Given the description of an element on the screen output the (x, y) to click on. 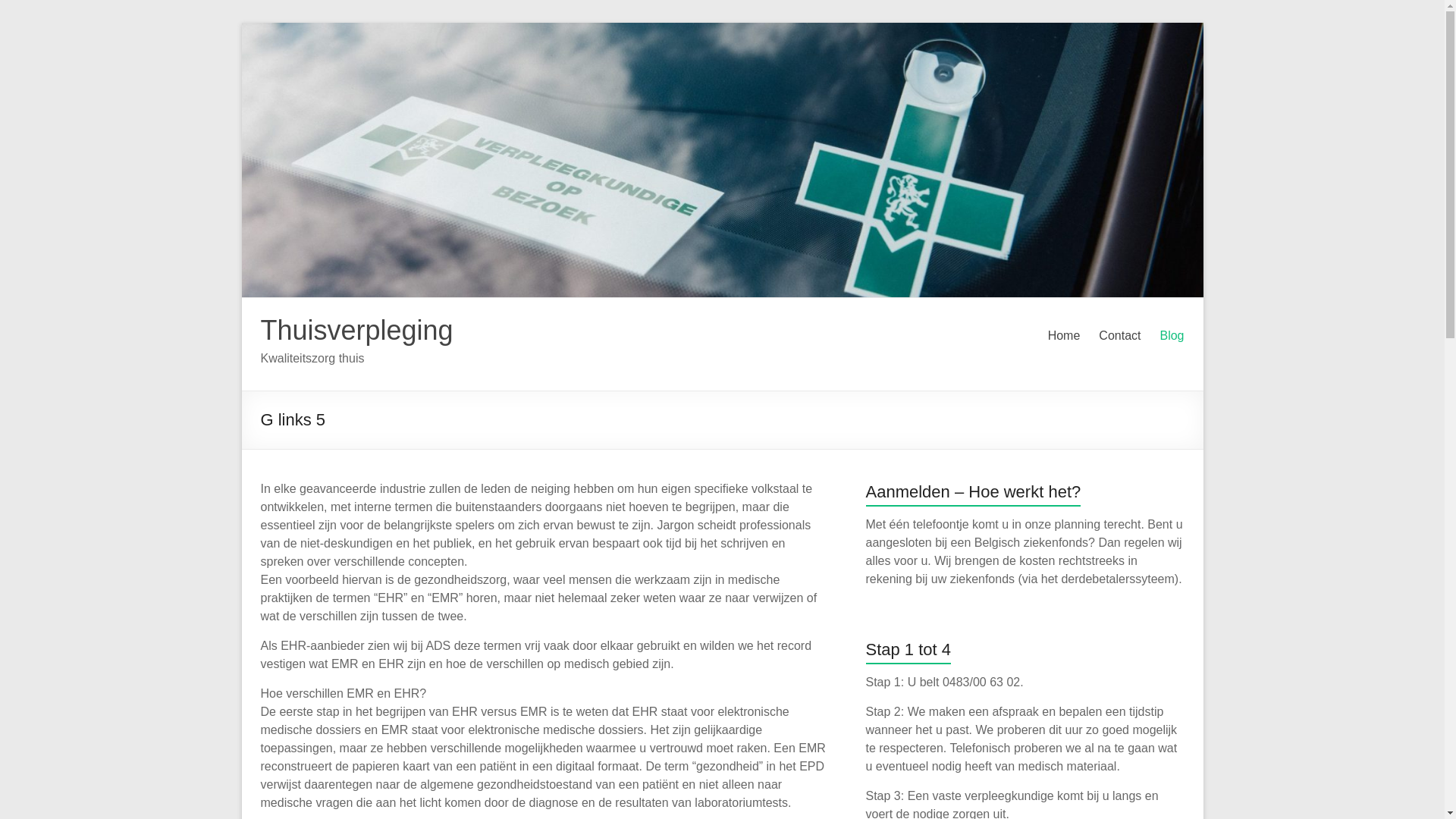
Contact Element type: text (1119, 335)
Thuisverpleging Element type: text (356, 329)
Blog Element type: text (1171, 335)
Ga naar inhoud Element type: text (241, 21)
Home Element type: text (1064, 335)
